Given the description of an element on the screen output the (x, y) to click on. 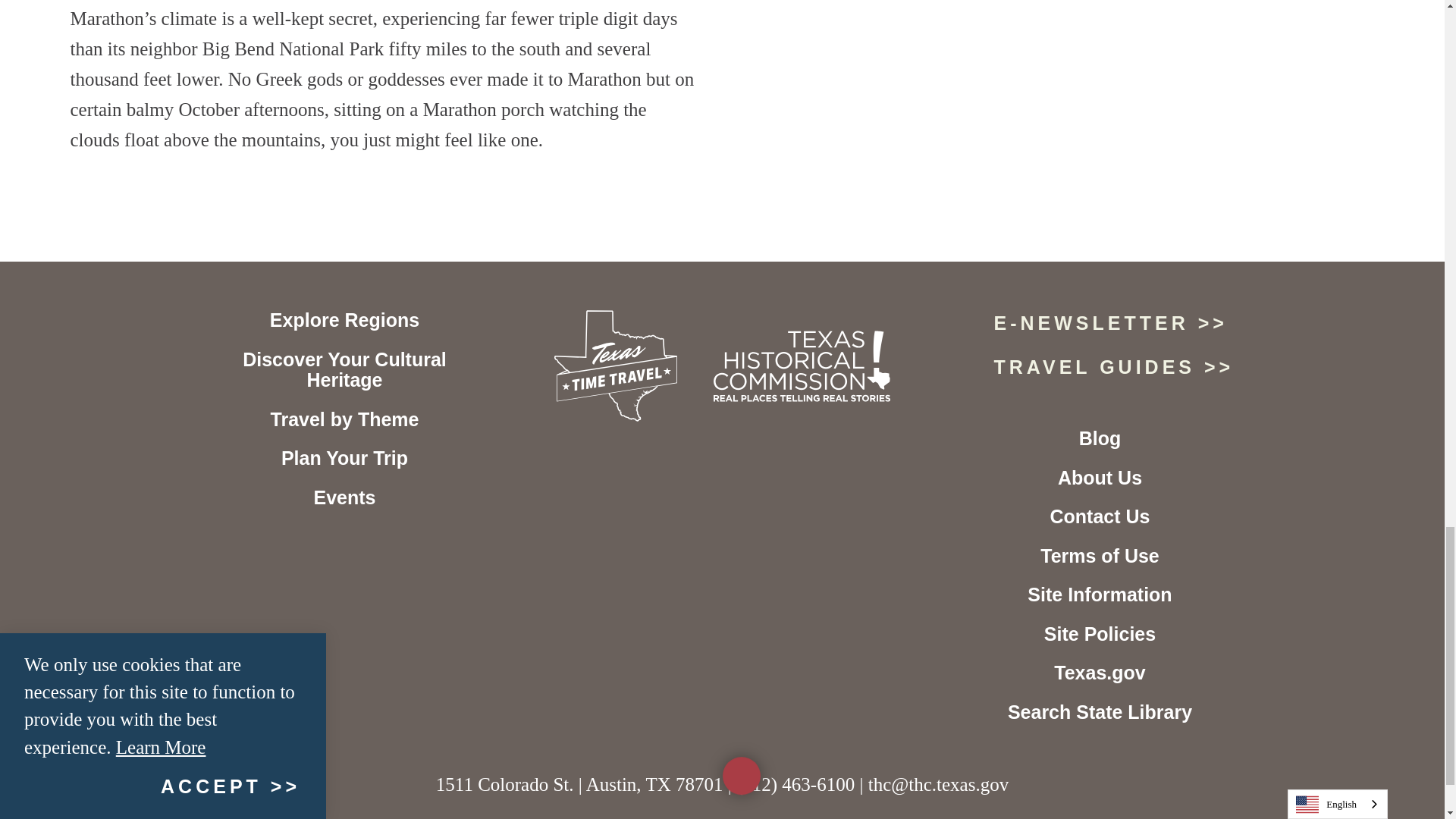
Explore Regions (344, 319)
Discover Your Cultural Heritage (344, 369)
Travel by Theme (344, 418)
